Given the description of an element on the screen output the (x, y) to click on. 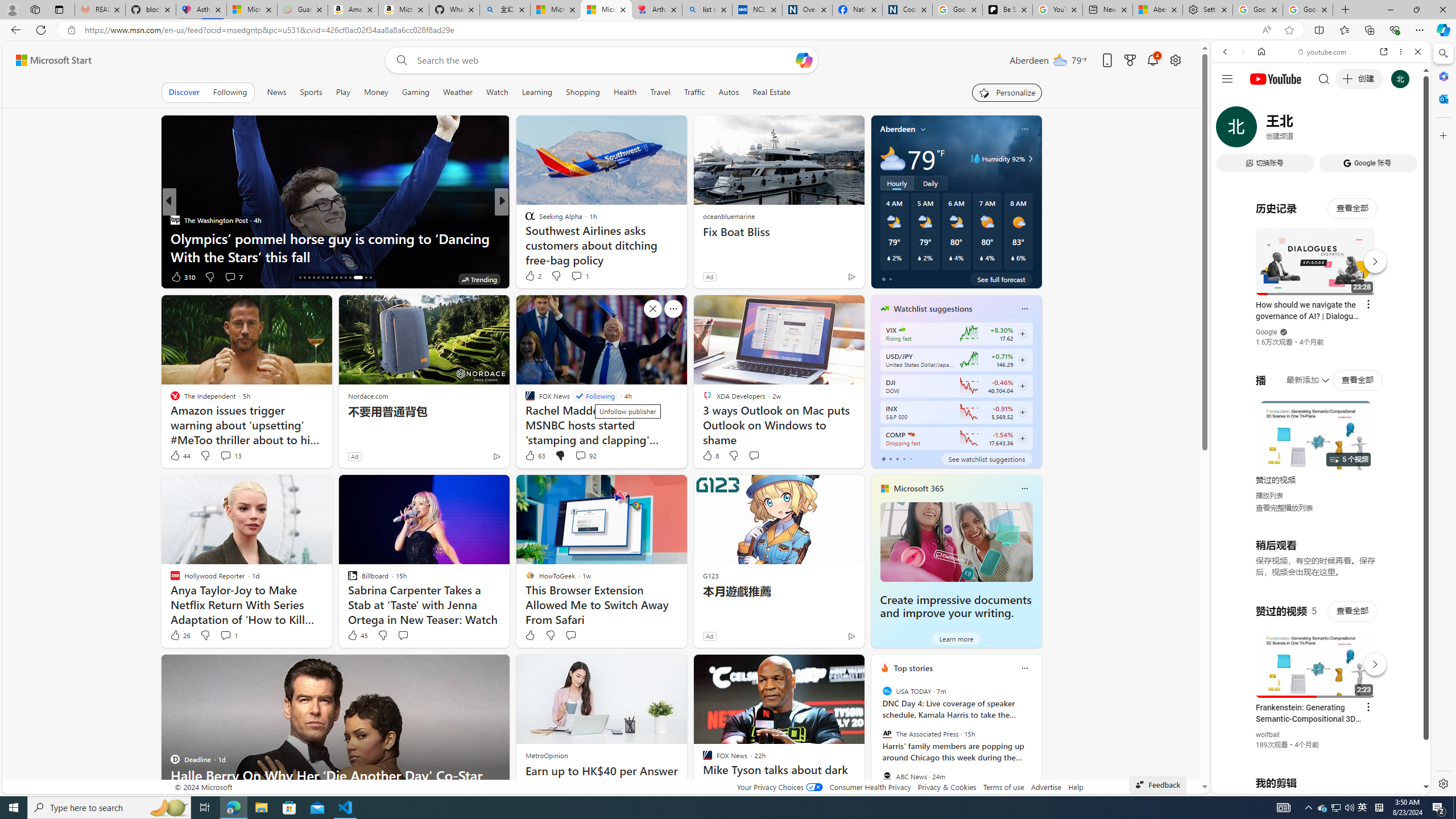
oceanbluemarine (727, 215)
See more (850, 668)
View comments 20 Comment (580, 276)
Open settings (1175, 60)
